Given the description of an element on the screen output the (x, y) to click on. 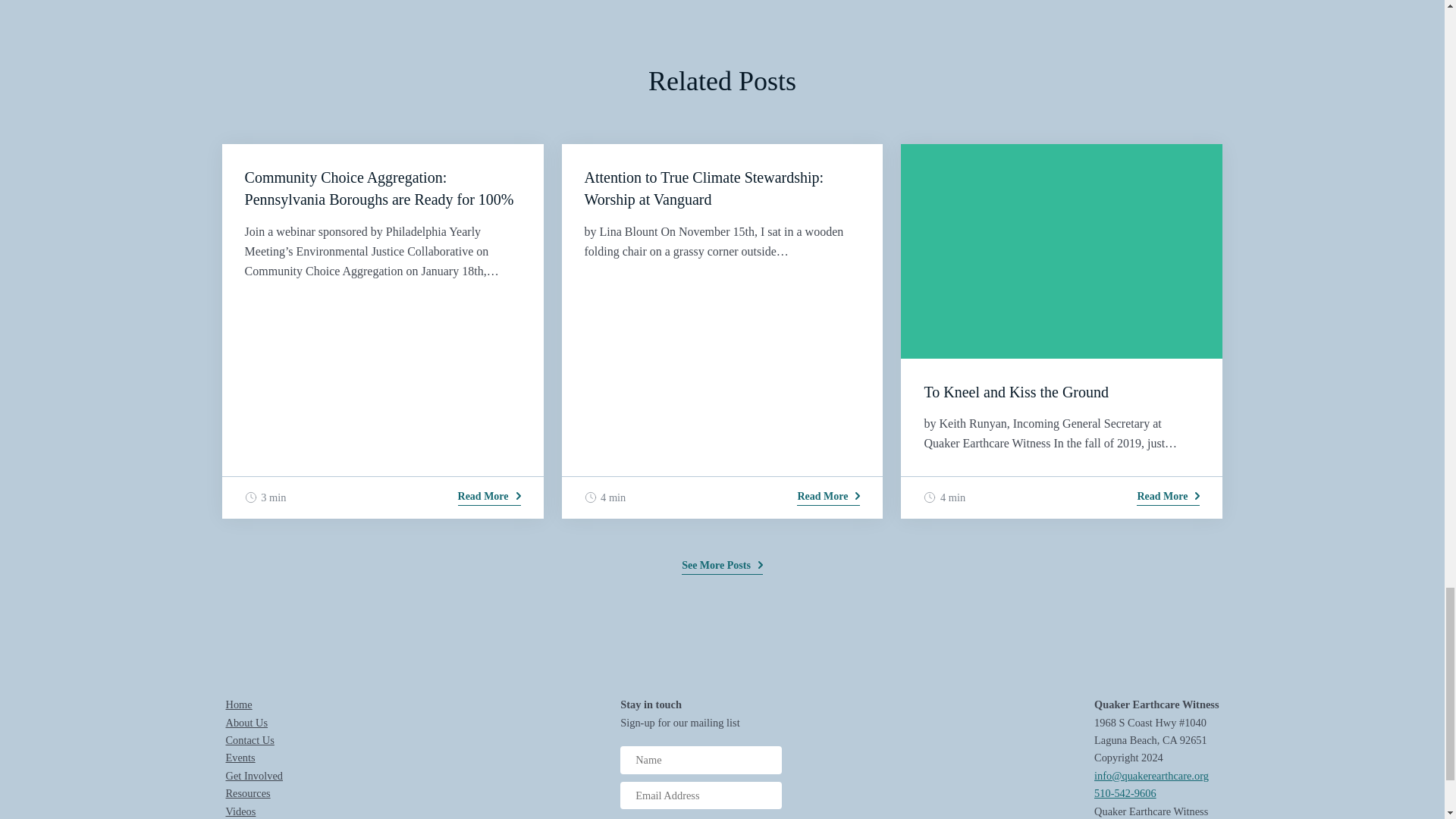
QEW Email (1151, 775)
QEW Phone Number (1125, 793)
Events (240, 757)
Read More (828, 497)
About Us (246, 722)
Home (238, 704)
Videos (240, 811)
Read More (1168, 497)
See More Posts (721, 565)
Get Involved (254, 775)
